Given the description of an element on the screen output the (x, y) to click on. 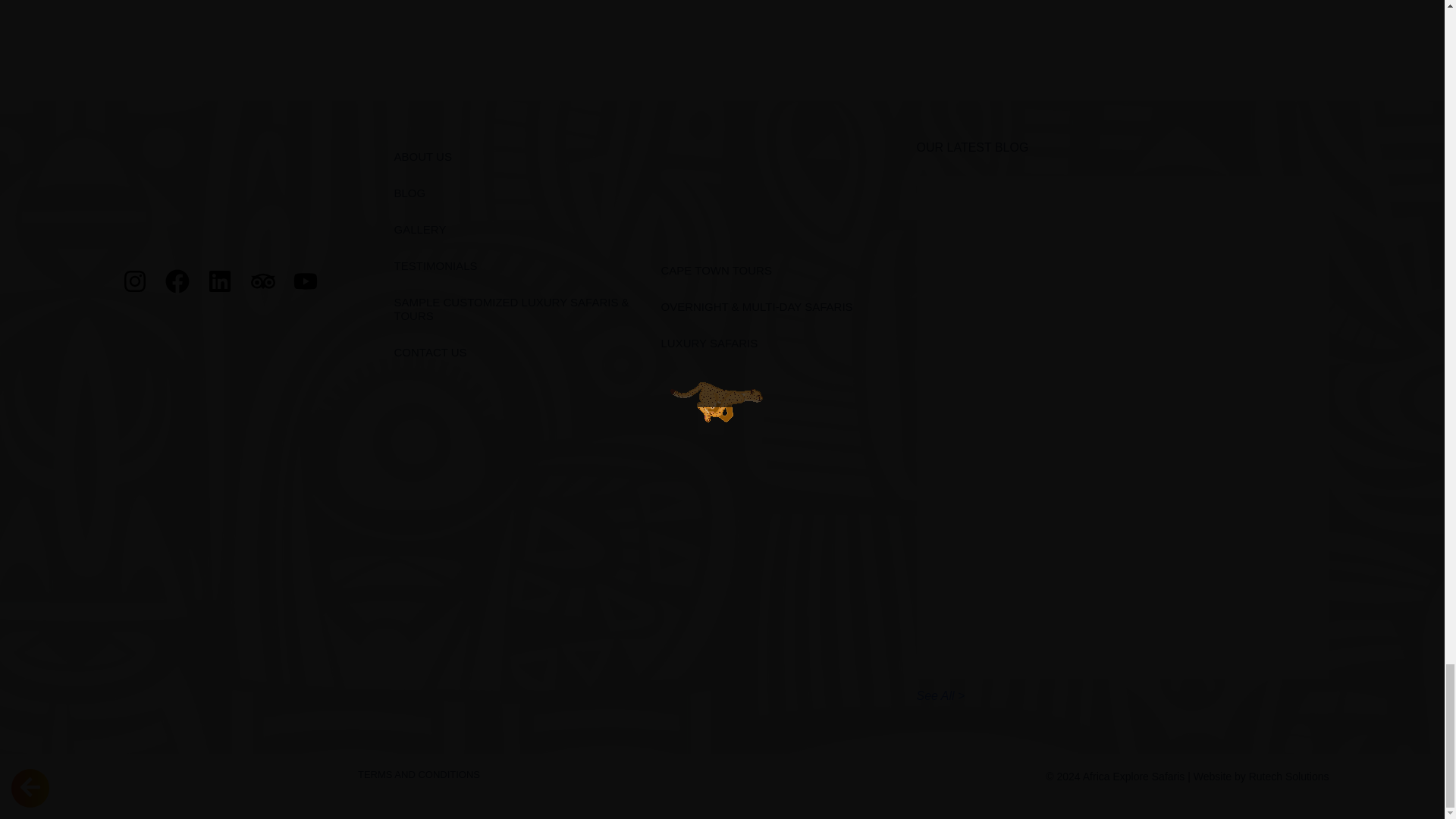
africa-explore-1 (248, 192)
